Given the description of an element on the screen output the (x, y) to click on. 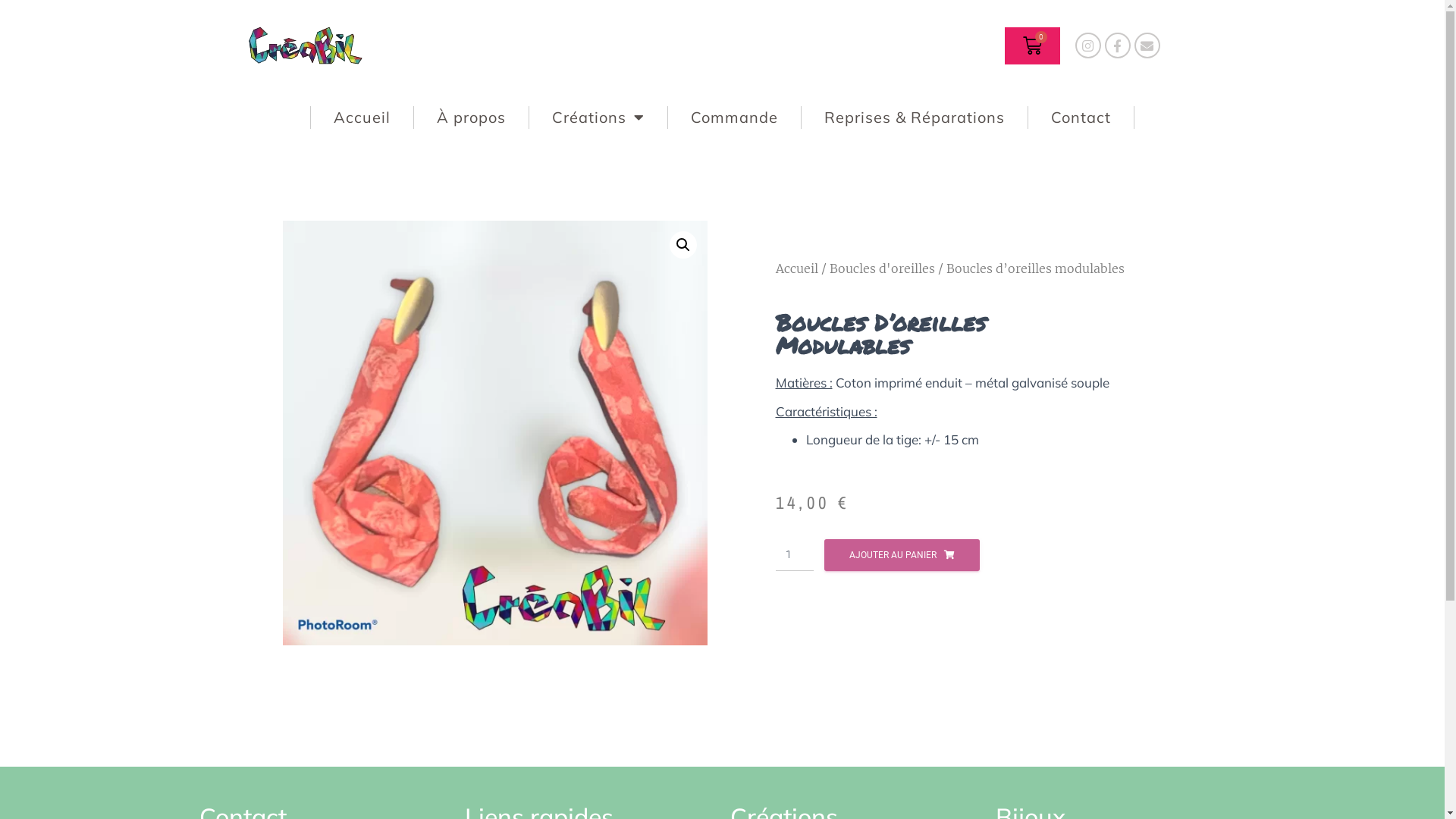
Commande Element type: text (734, 117)
Boucles d'oreilles Element type: text (882, 268)
Accueil Element type: text (796, 268)
AJOUTER AU PANIER Element type: text (901, 555)
Accueil Element type: text (362, 117)
PhotoRoom_20210524_164748 Element type: hover (494, 432)
Contact Element type: text (1081, 117)
